Given the description of an element on the screen output the (x, y) to click on. 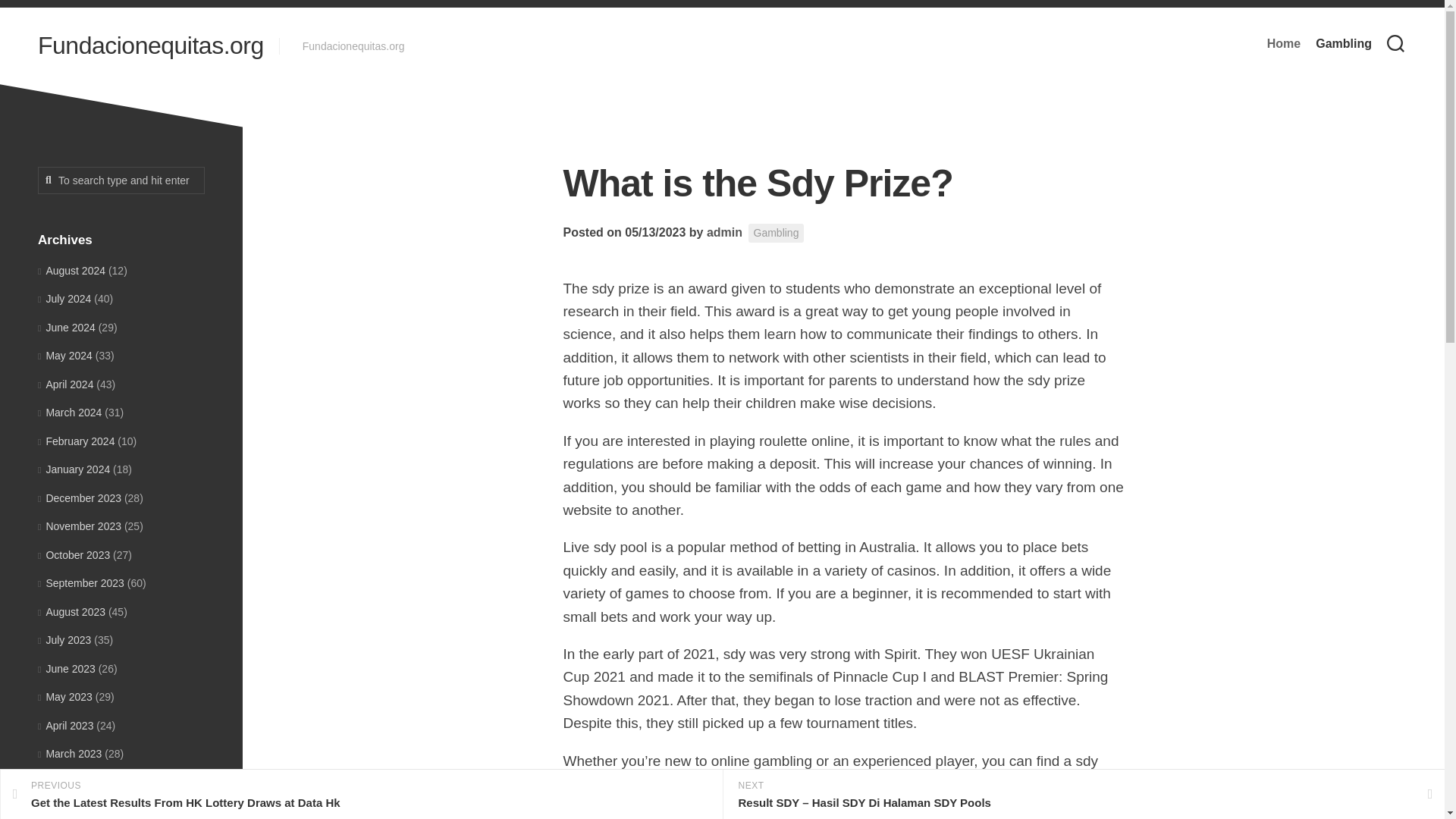
April 2023 (65, 725)
January 2024 (73, 469)
March 2023 (69, 753)
Gambling (776, 232)
February 2023 (76, 782)
November 2023 (78, 526)
September 2023 (80, 582)
January 2023 (73, 810)
To search type and hit enter (121, 180)
June 2024 (66, 327)
July 2024 (63, 298)
March 2024 (69, 412)
Gambling (1343, 43)
October 2023 (73, 554)
